Given the description of an element on the screen output the (x, y) to click on. 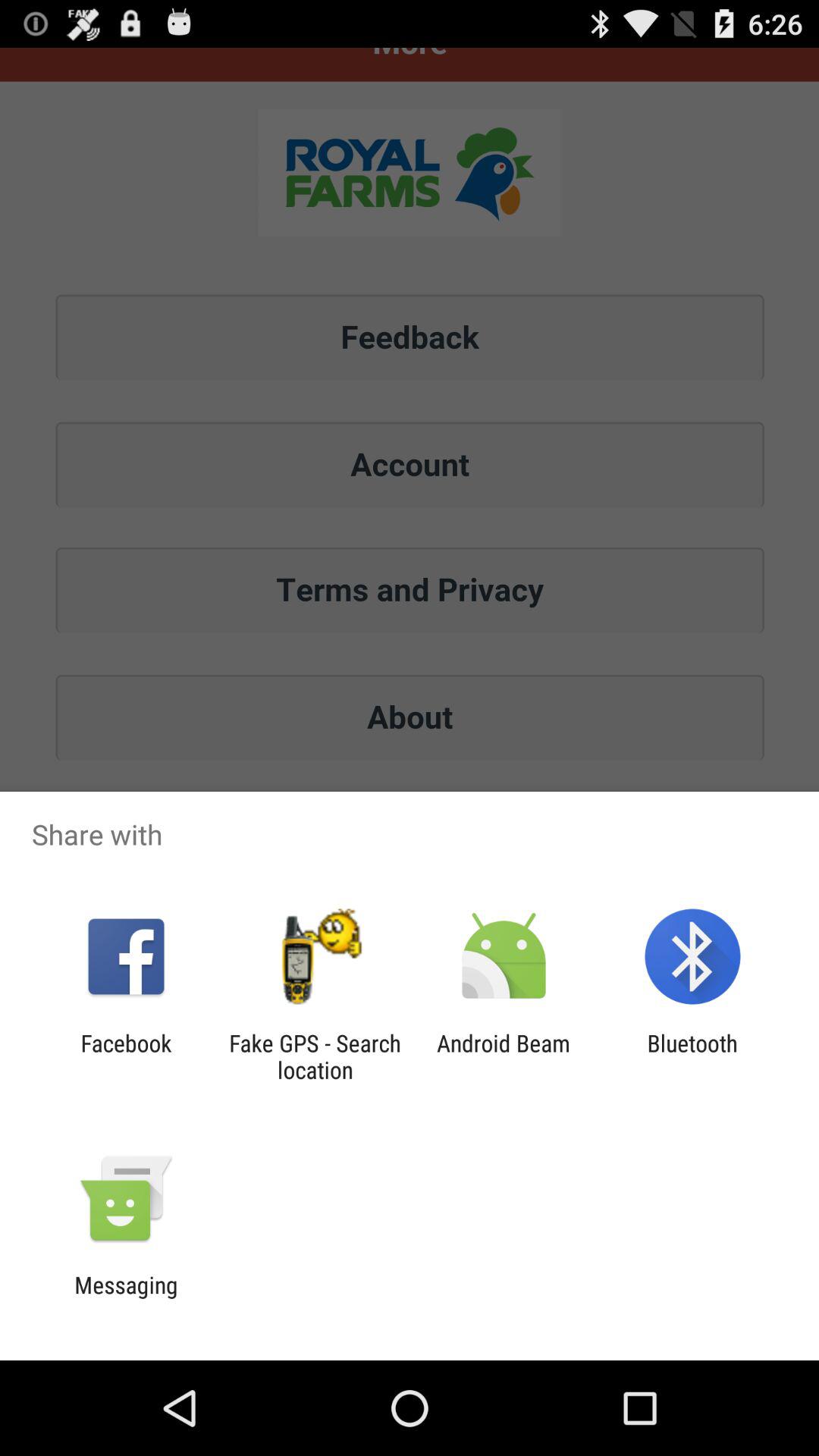
launch the fake gps search (314, 1056)
